Given the description of an element on the screen output the (x, y) to click on. 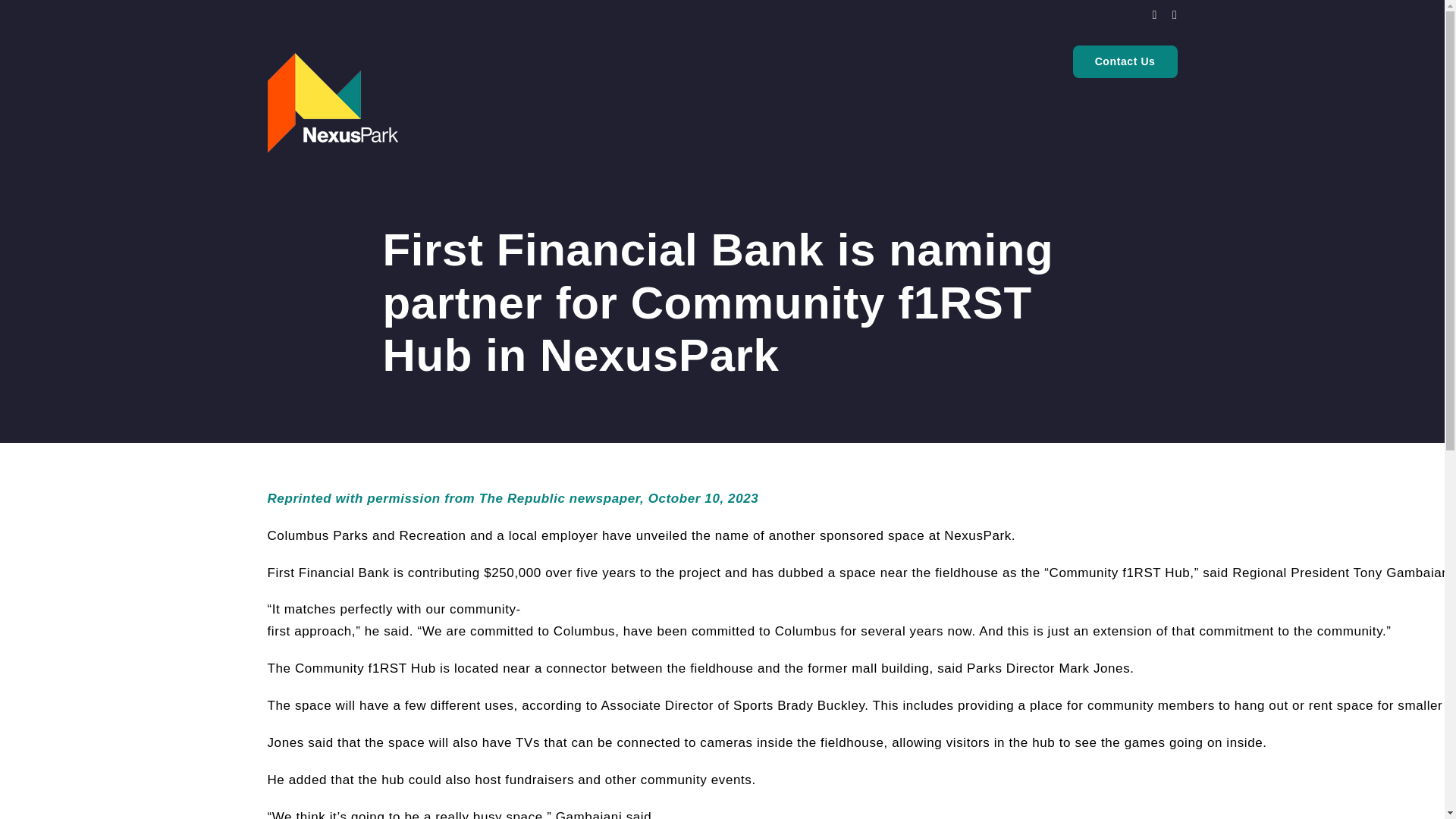
Contact Us (1125, 61)
